Given the description of an element on the screen output the (x, y) to click on. 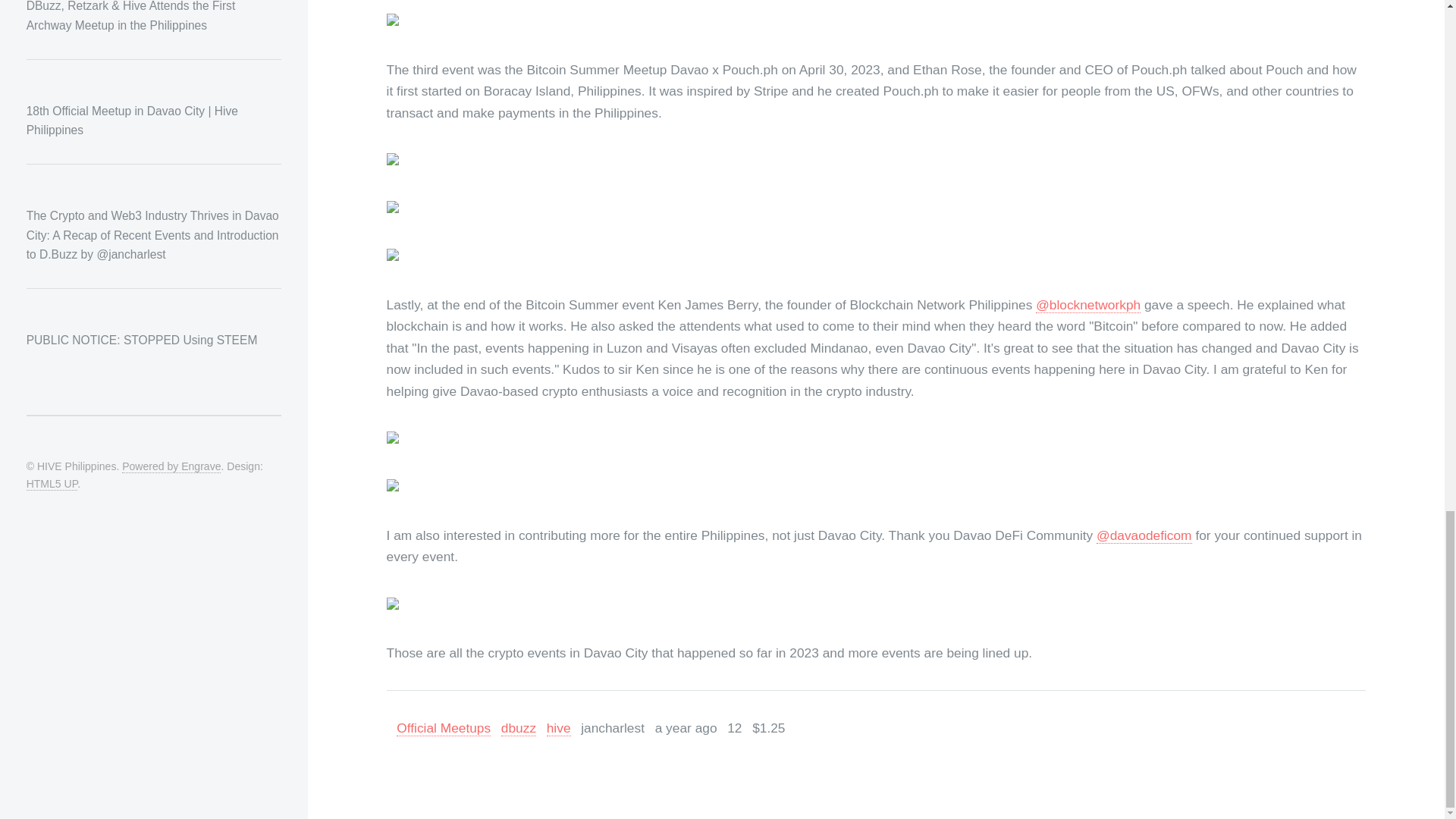
Official Meetups (443, 728)
hive (558, 728)
Powered by Engrave (171, 466)
May 4, 2023 12:09 PM (686, 727)
HTML5 UP (144, 492)
dbuzz (517, 728)
